Given the description of an element on the screen output the (x, y) to click on. 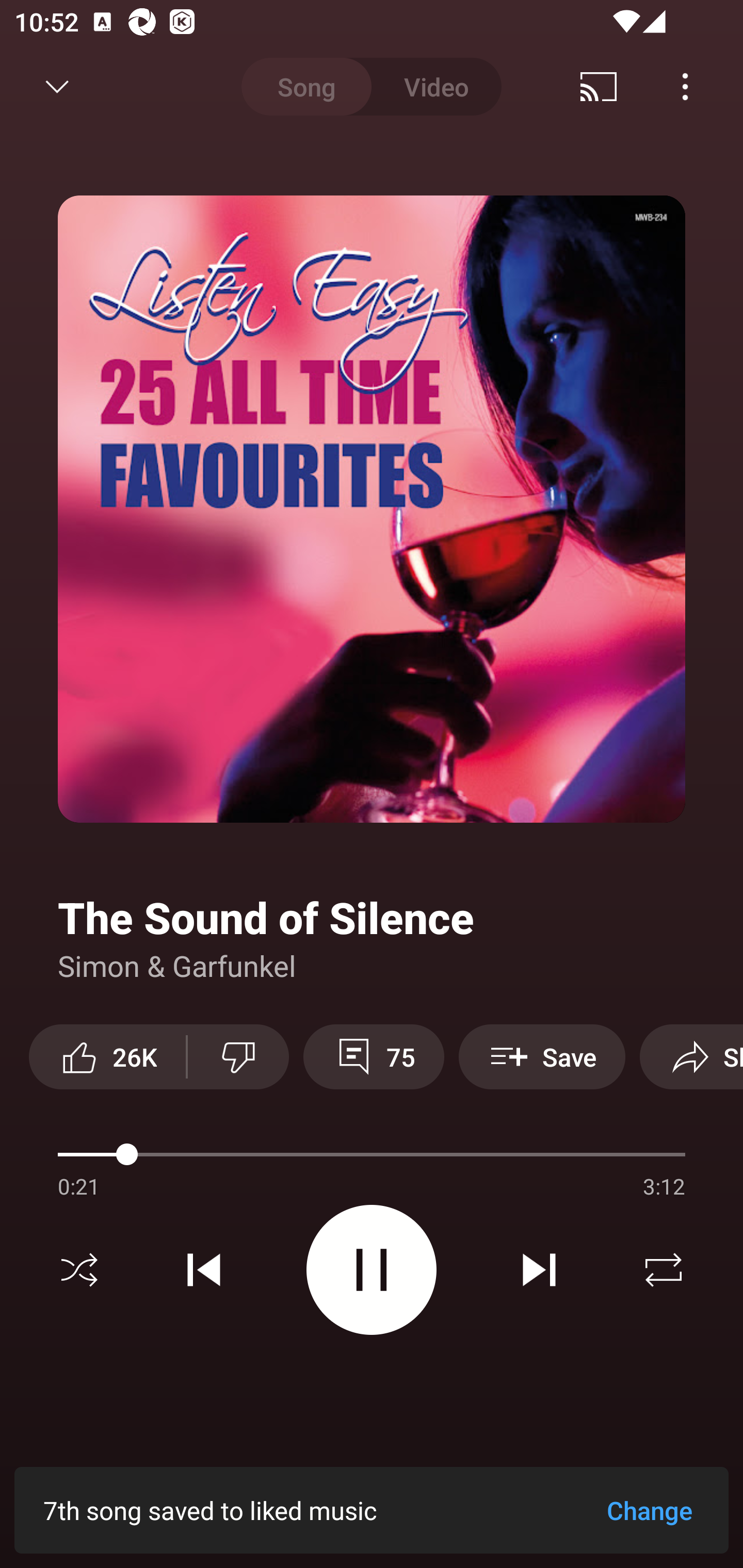
Minimize (57, 86)
Cast. Disconnected (598, 86)
Menu (684, 86)
26K like this video along with 26,326 other people (106, 1056)
Dislike (238, 1056)
75 View 75 comments (373, 1056)
Save Save to playlist (541, 1056)
Share (691, 1056)
Pause video (371, 1269)
Shuffle off (79, 1269)
Previous track (203, 1269)
Next track (538, 1269)
Repeat off (663, 1269)
Up next UP NEXT Lyrics LYRICS Related RELATED (371, 1491)
Change (649, 1510)
